Given the description of an element on the screen output the (x, y) to click on. 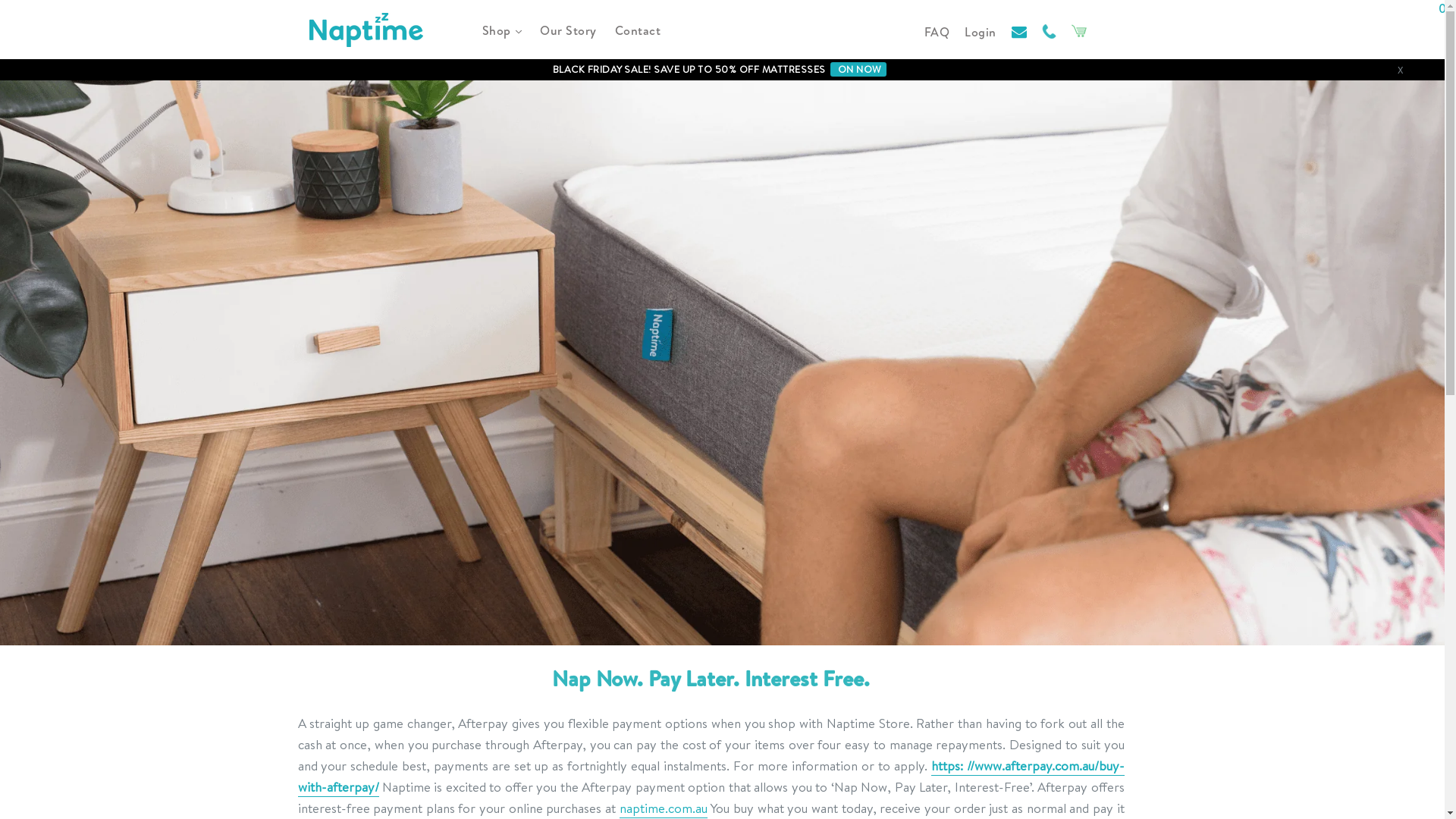
naptime.com.au Element type: text (663, 808)
https: //www.afterpay.com.au/buy-with-afterpay/ Element type: text (710, 776)
Send Element type: text (902, 758)
Contact Element type: text (637, 30)
0 Element type: text (1078, 30)
Login Element type: text (980, 31)
FAQ Element type: text (936, 31)
Our Story Element type: text (568, 30)
